Given the description of an element on the screen output the (x, y) to click on. 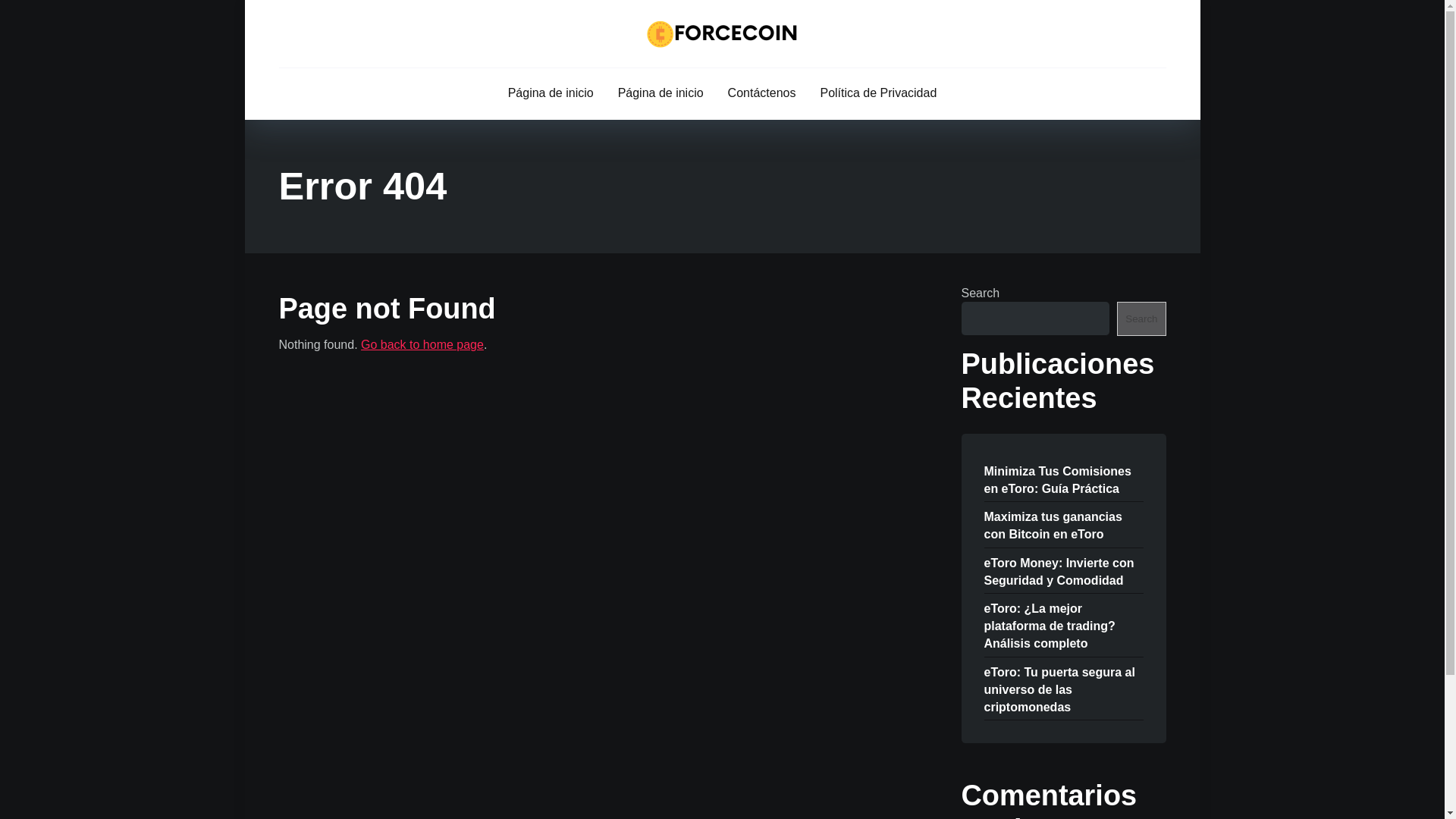
Forcecoin (422, 344)
Maximiza tus ganancias con Bitcoin en eToro (1053, 524)
Go back to home page (422, 344)
eToro Money: Invierte con Seguridad y Comodidad (1059, 570)
eToro: Tu puerta segura al universo de las criptomonedas (1059, 688)
Forcecoin (722, 33)
Search (1141, 318)
